Given the description of an element on the screen output the (x, y) to click on. 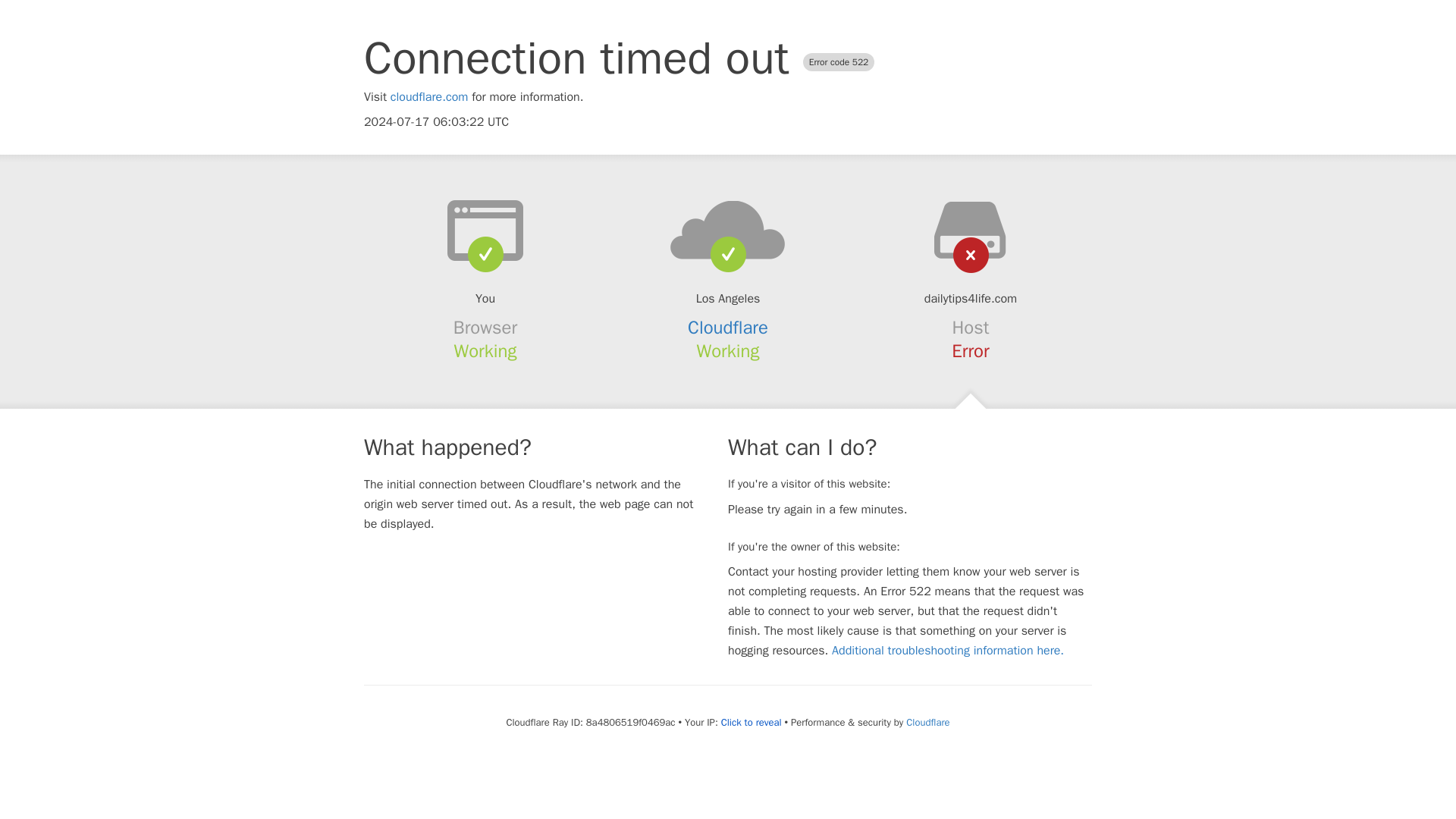
Cloudflare (727, 327)
Click to reveal (750, 722)
Additional troubleshooting information here. (947, 650)
Cloudflare (927, 721)
cloudflare.com (429, 96)
